Given the description of an element on the screen output the (x, y) to click on. 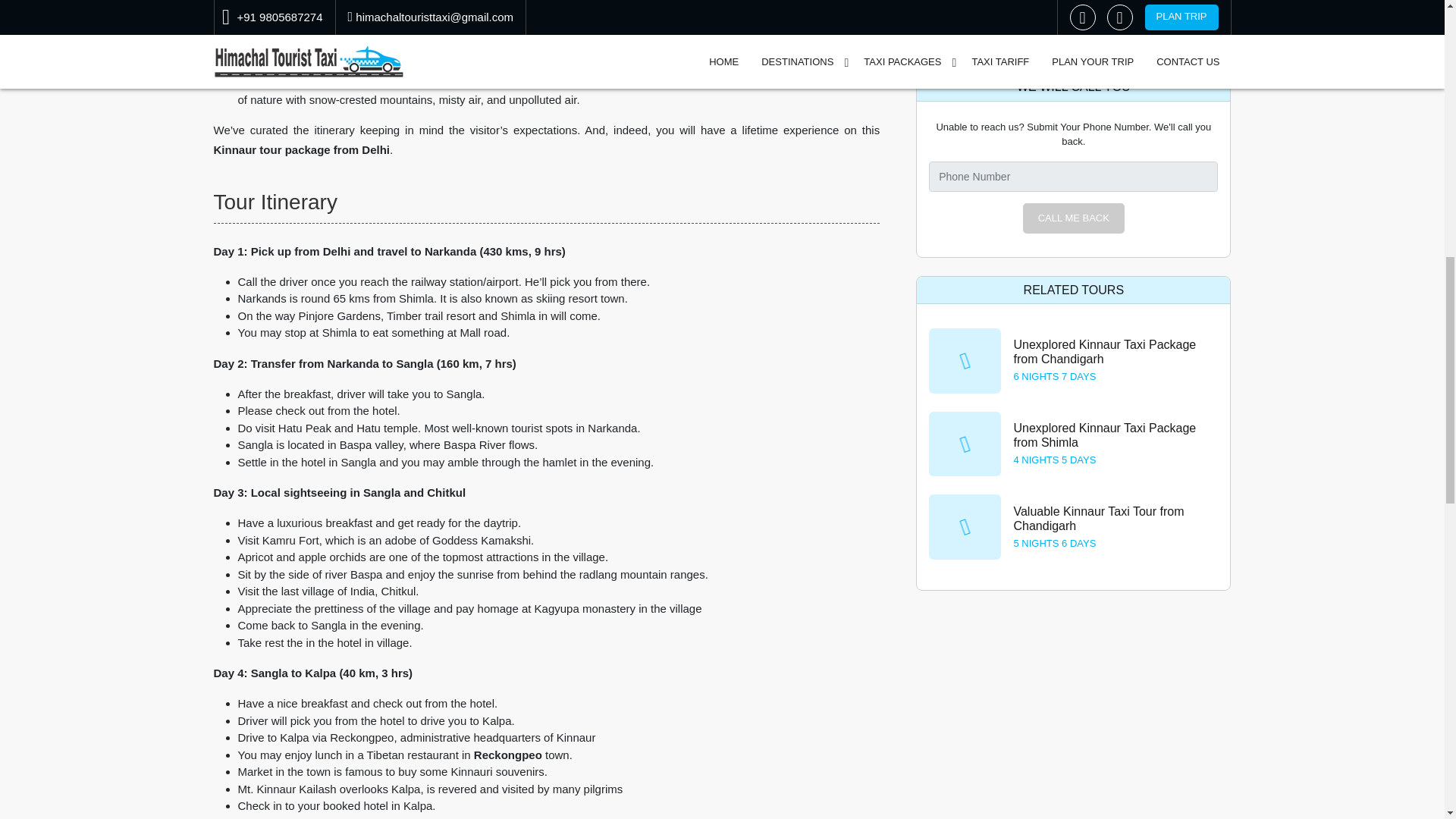
CALL ME BACK (1073, 218)
Unexplored Kinnaur Taxi Package from Chandigarh (1104, 351)
Unexplored Kinnaur Taxi Package from Shimla (1104, 434)
